Given the description of an element on the screen output the (x, y) to click on. 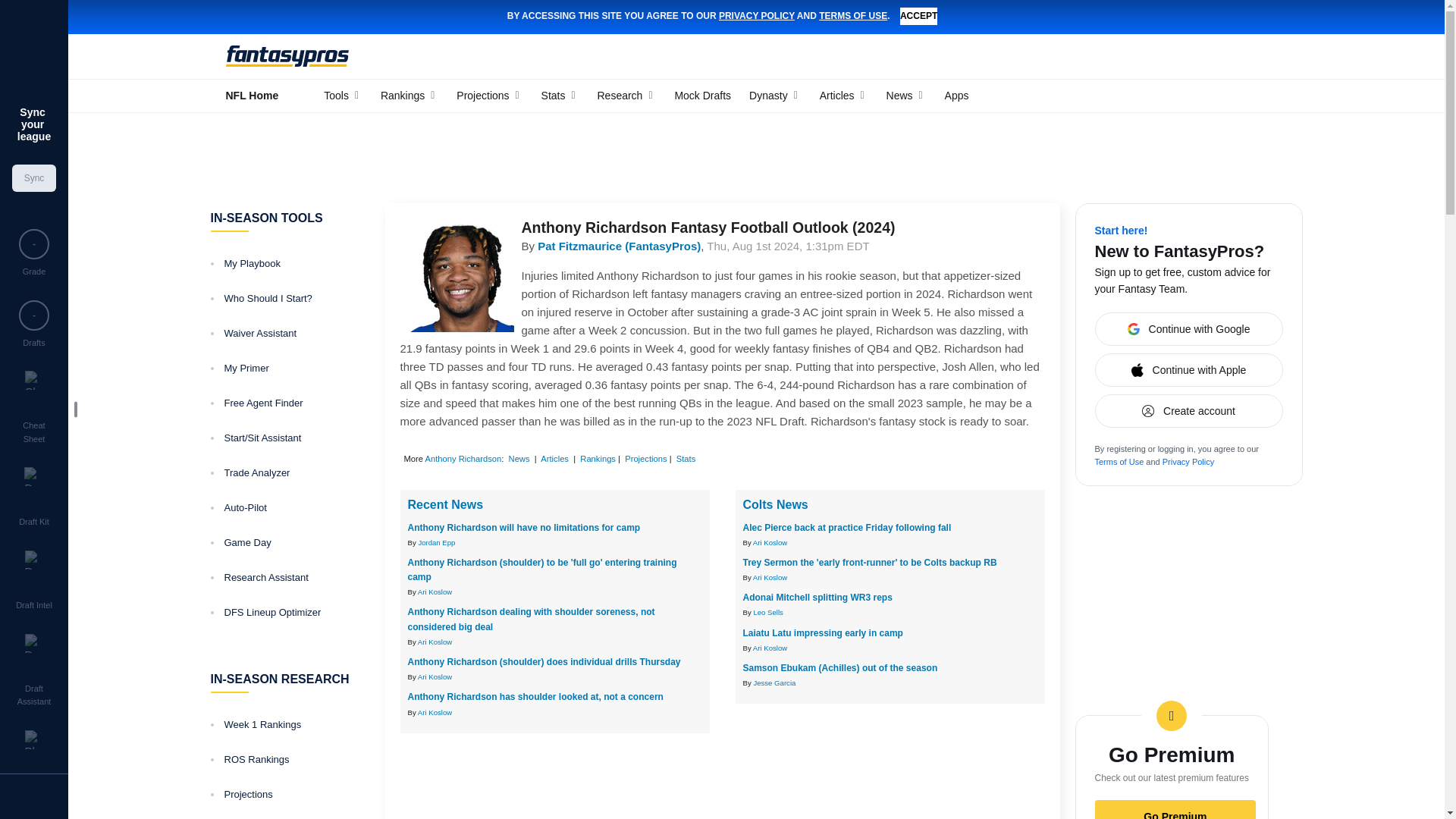
TERMS OF USE (852, 15)
ACCEPT (918, 16)
PRIVACY POLICY (756, 15)
